Given the description of an element on the screen output the (x, y) to click on. 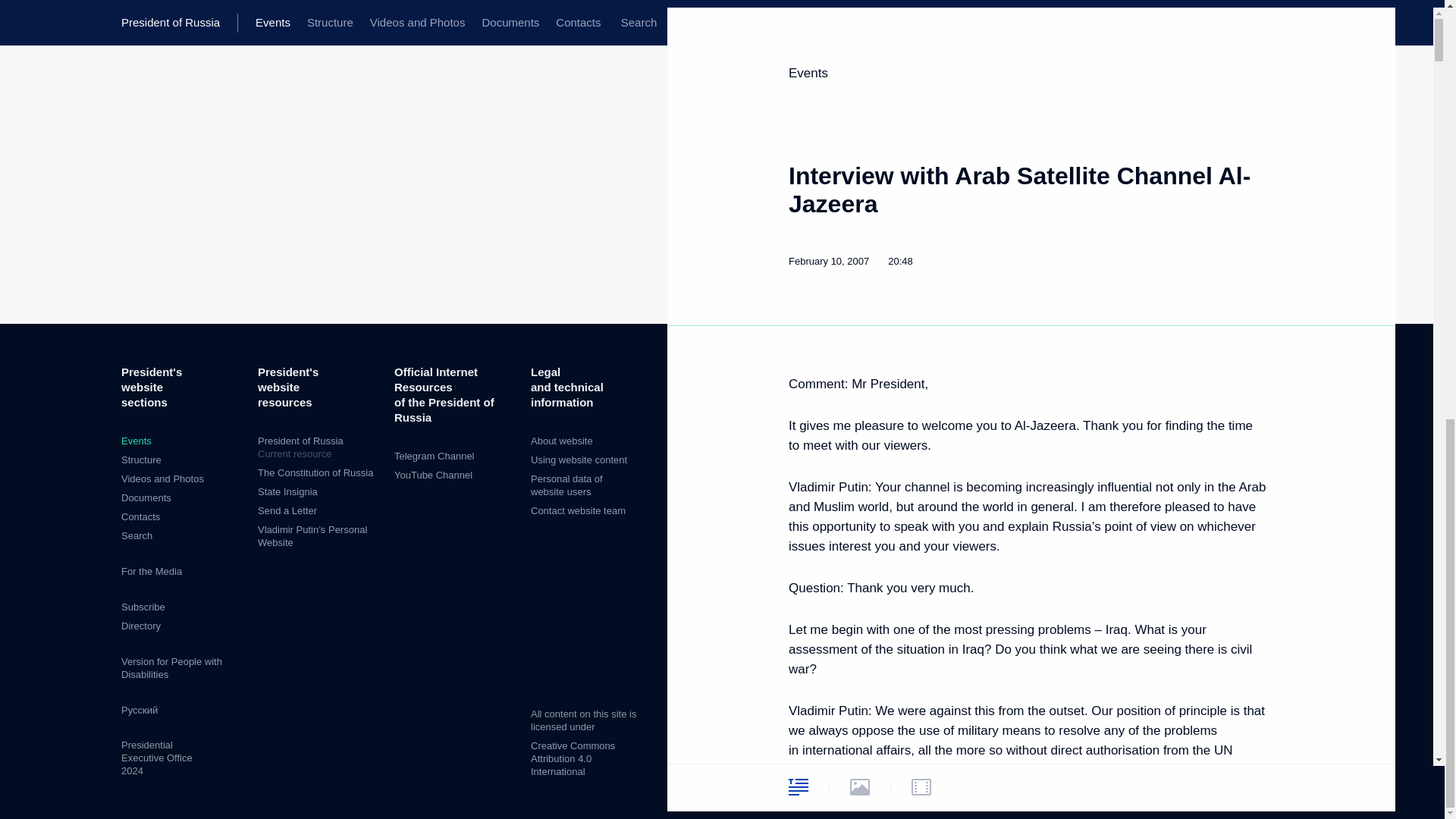
Contacts (140, 516)
Events (135, 440)
Subscribe (142, 606)
Telegram Channel (434, 455)
Videos and Photos (161, 478)
Documents (145, 497)
Contact website team (578, 510)
YouTube Channel (432, 474)
Send a Letter (317, 447)
Structure (287, 510)
Using website content (140, 460)
Personal data of website users (579, 460)
Directory (566, 485)
For the Media (140, 625)
